Given the description of an element on the screen output the (x, y) to click on. 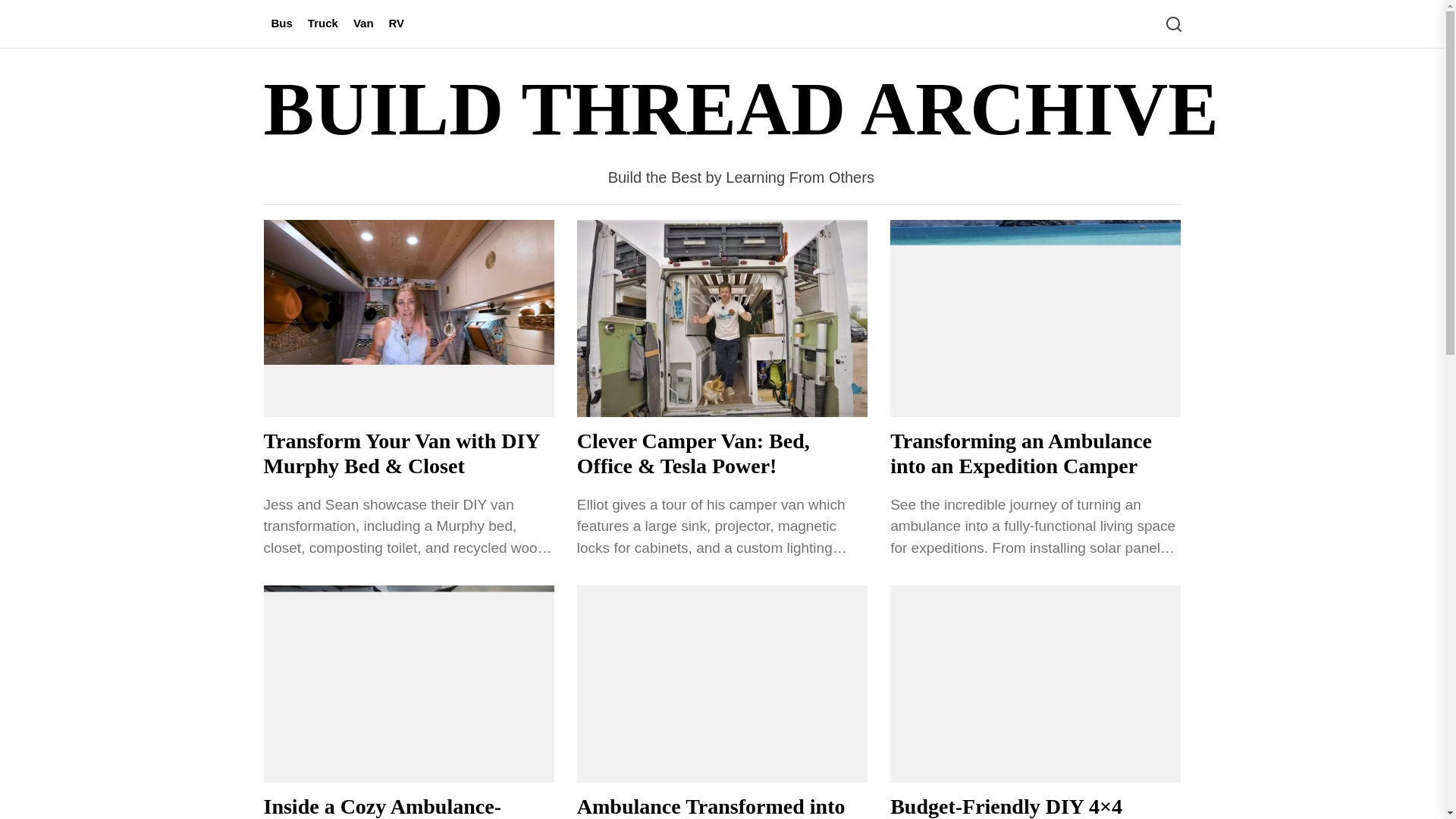
Truck (322, 23)
Inside a Cozy Ambulance-Turned-Tiny-Home! (381, 806)
Ambulance Transformed into Cozy Tiny Home (710, 806)
Transforming an Ambulance into an Expedition Camper (1020, 453)
BUILD THREAD ARCHIVE (741, 108)
